Given the description of an element on the screen output the (x, y) to click on. 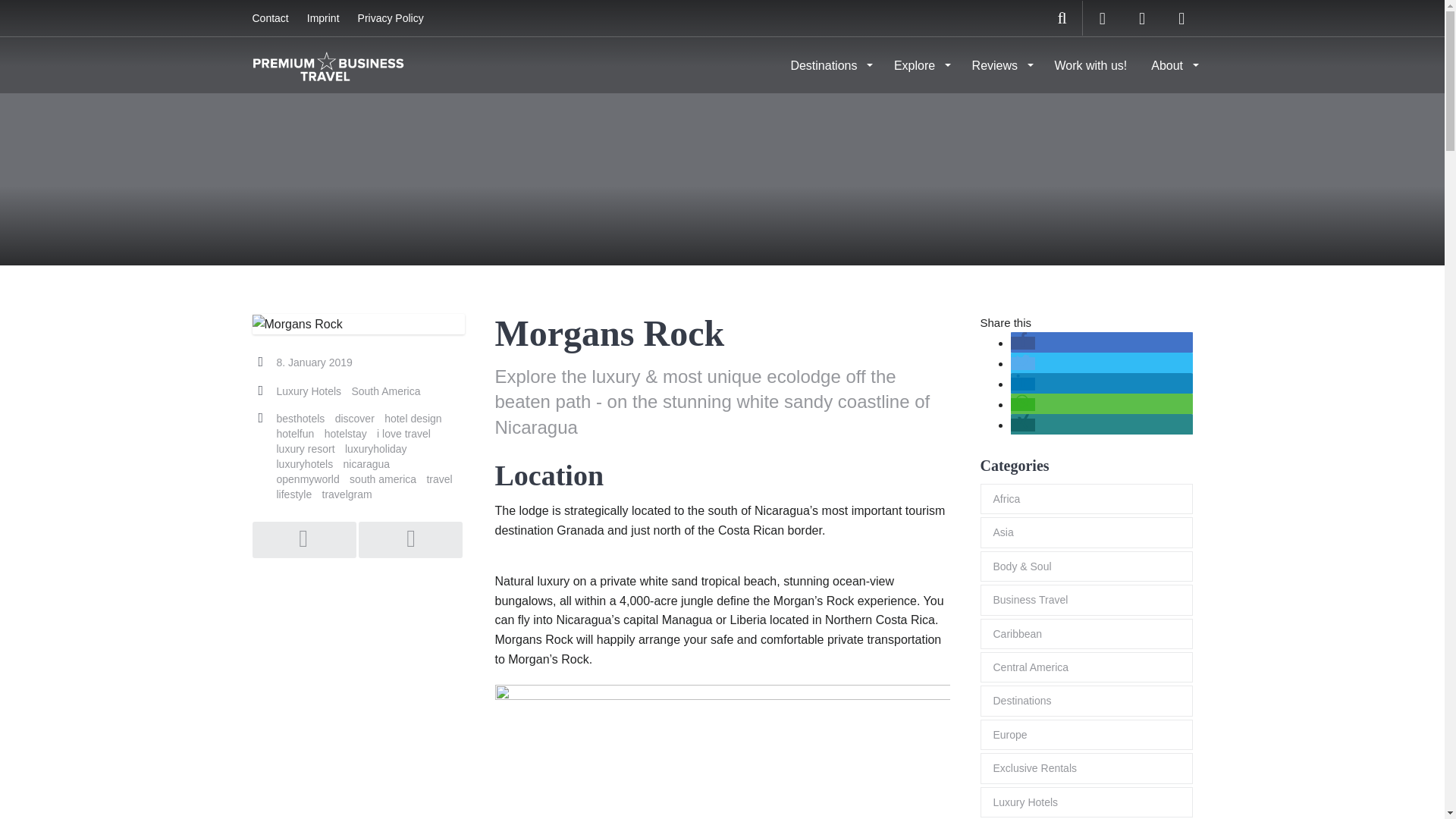
Destinations (829, 64)
Share on Facebook (1021, 342)
Privacy Policy (390, 18)
About (1172, 64)
PREMIUM BUSINESS TRAVEL (327, 63)
Explore (920, 64)
Work with us! (1090, 64)
Reviews (1000, 64)
Contact (270, 18)
Imprint (323, 18)
